Given the description of an element on the screen output the (x, y) to click on. 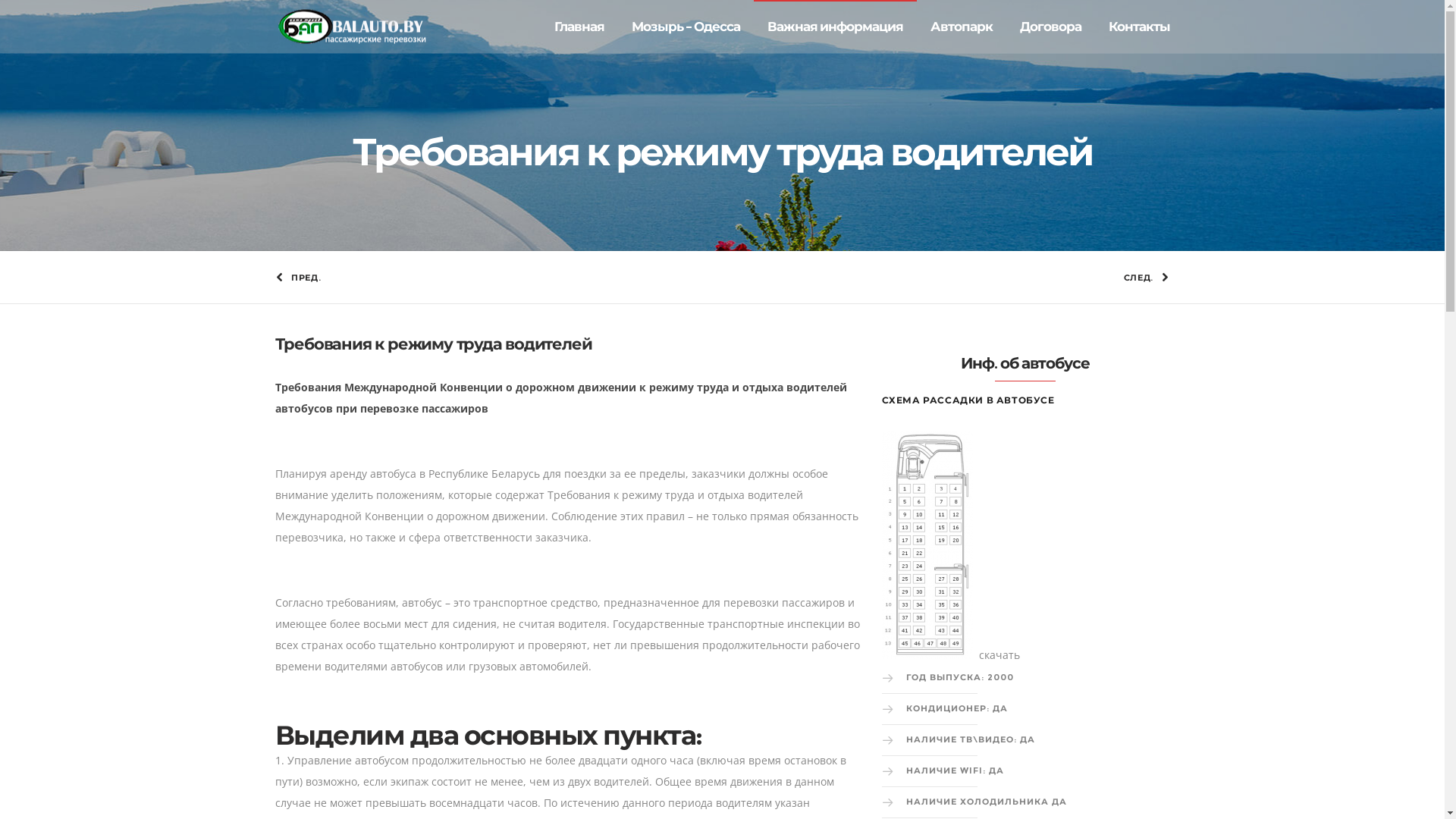
  Element type: text (928, 654)
